Given the description of an element on the screen output the (x, y) to click on. 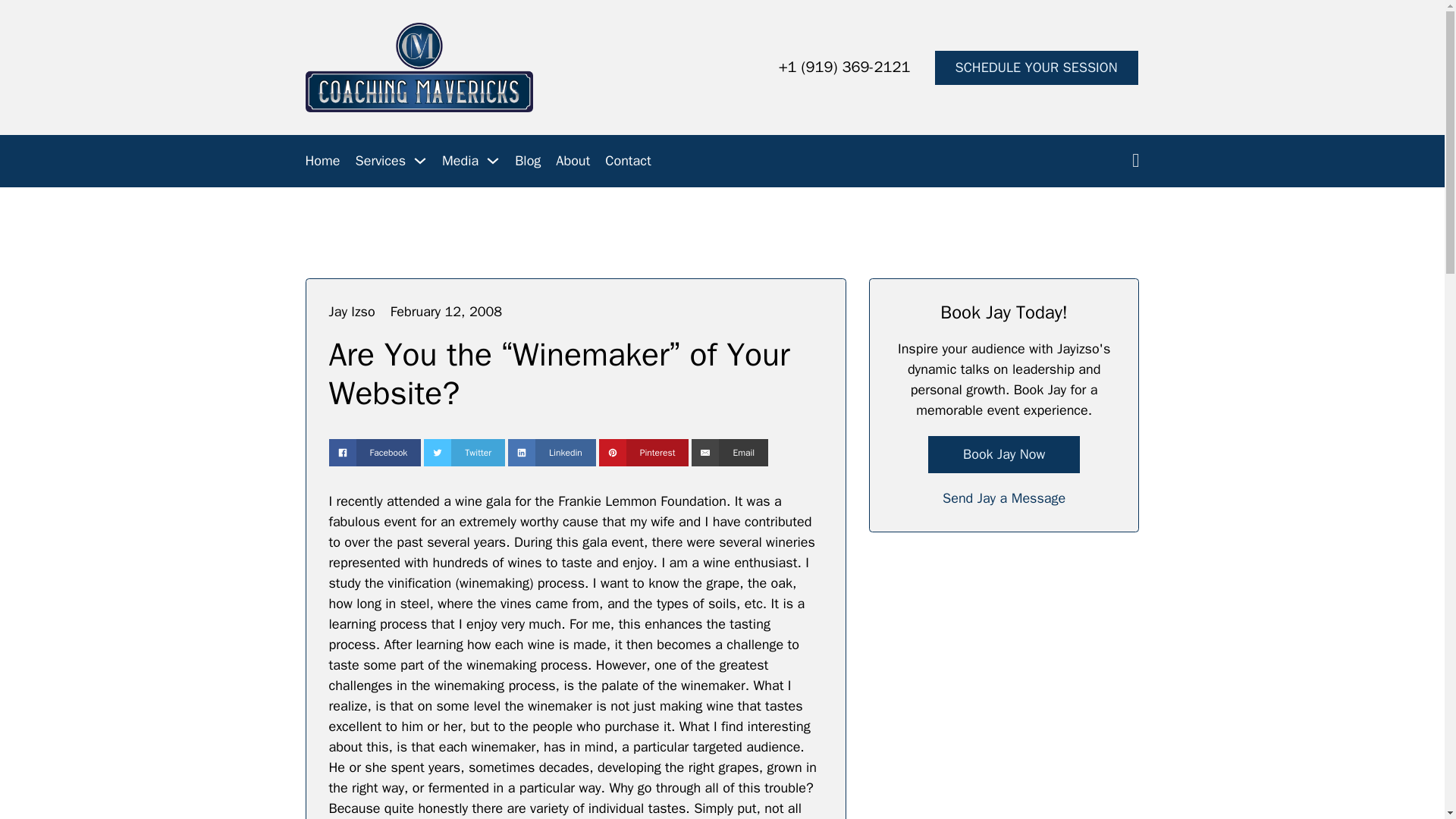
Media (460, 160)
SCHEDULE YOUR SESSION (1036, 67)
Services (380, 160)
About (572, 160)
Blog (527, 160)
Contact (627, 160)
Home (321, 160)
